Given the description of an element on the screen output the (x, y) to click on. 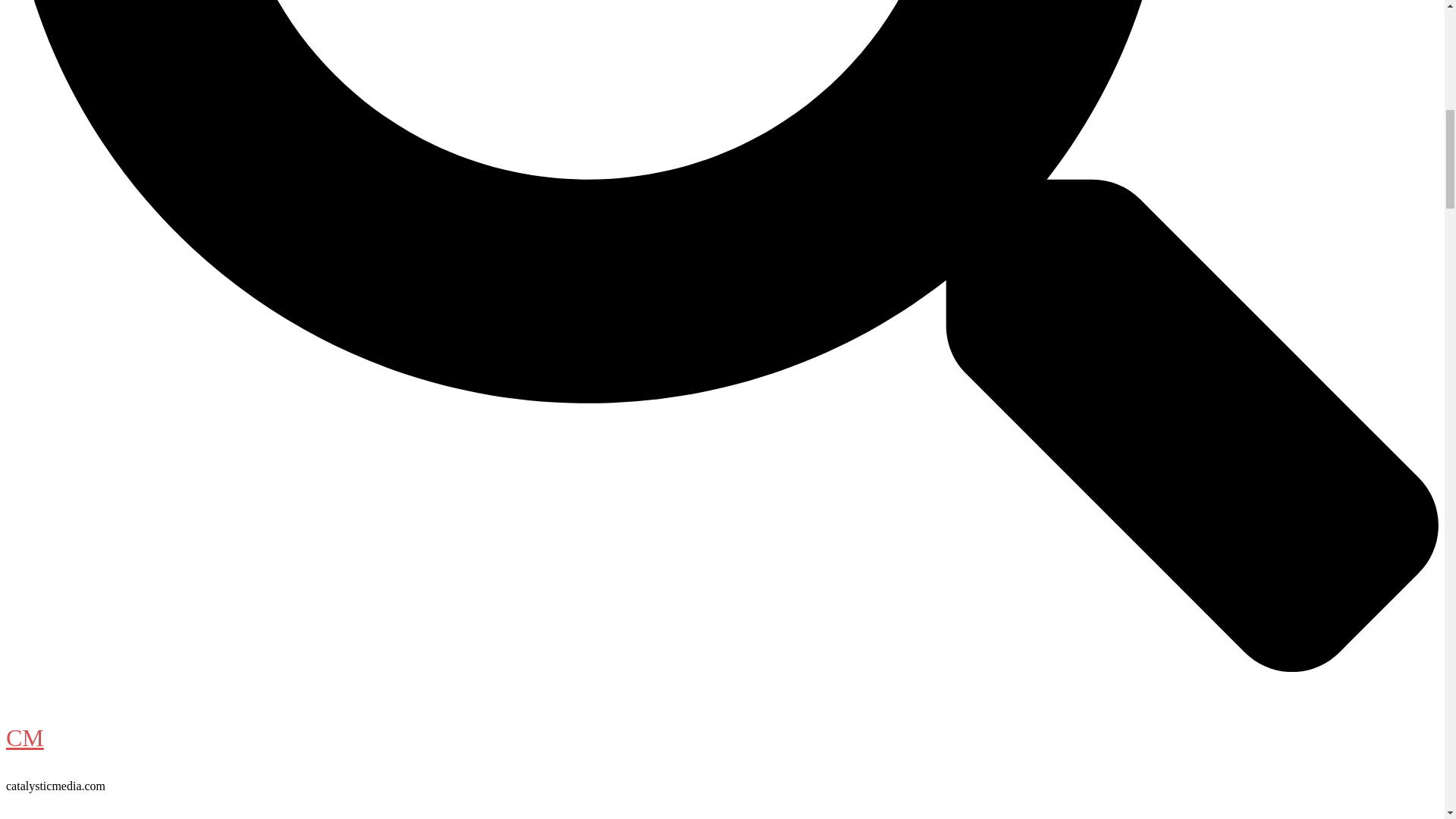
CM (24, 737)
